Given the description of an element on the screen output the (x, y) to click on. 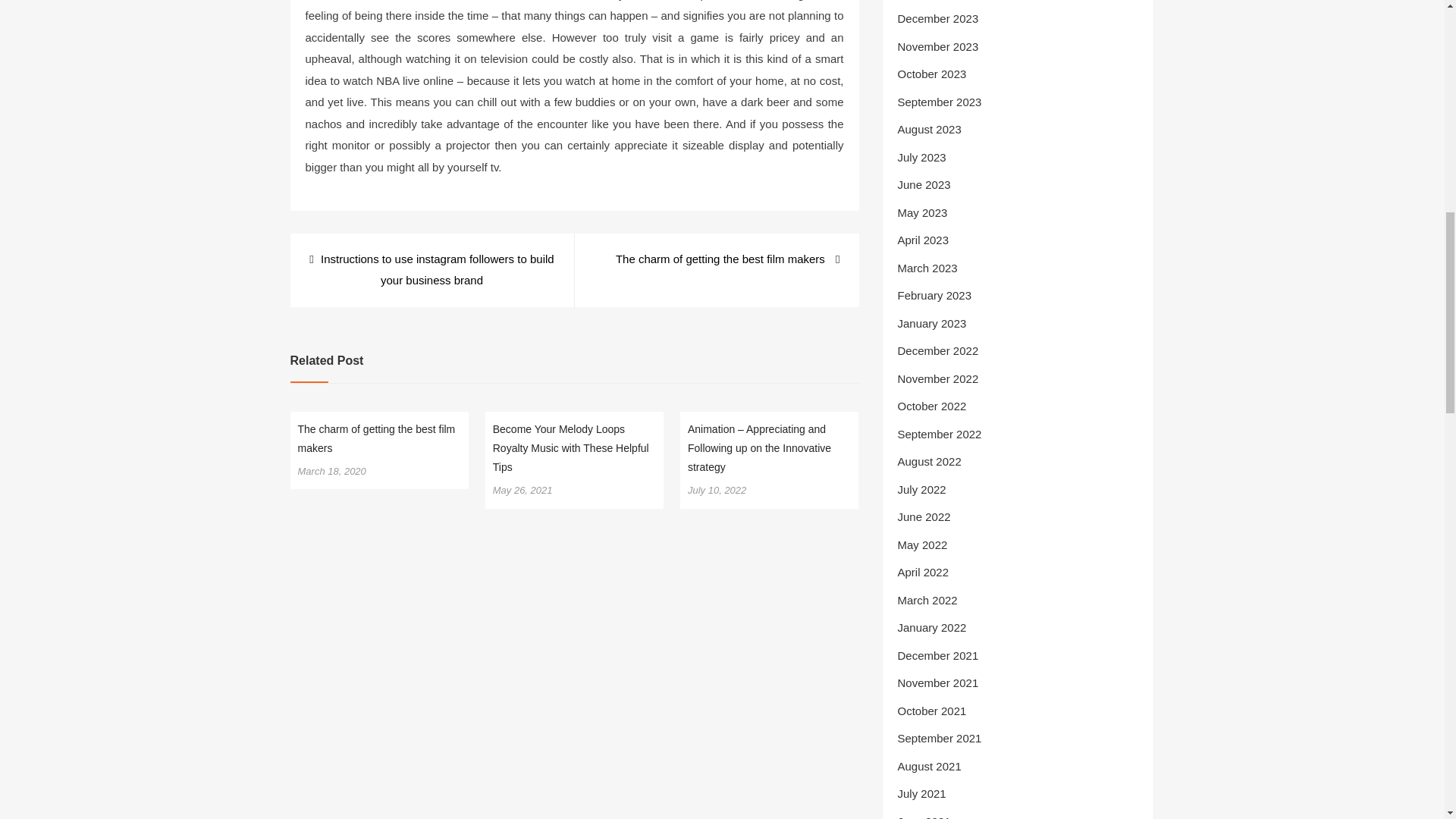
June 2023 (924, 184)
November 2023 (938, 46)
July 2023 (922, 156)
December 2023 (938, 18)
October 2023 (932, 73)
The charm of getting the best film makers (375, 438)
August 2023 (929, 128)
The charm of getting the best film makers (727, 259)
May 2023 (922, 212)
